Given the description of an element on the screen output the (x, y) to click on. 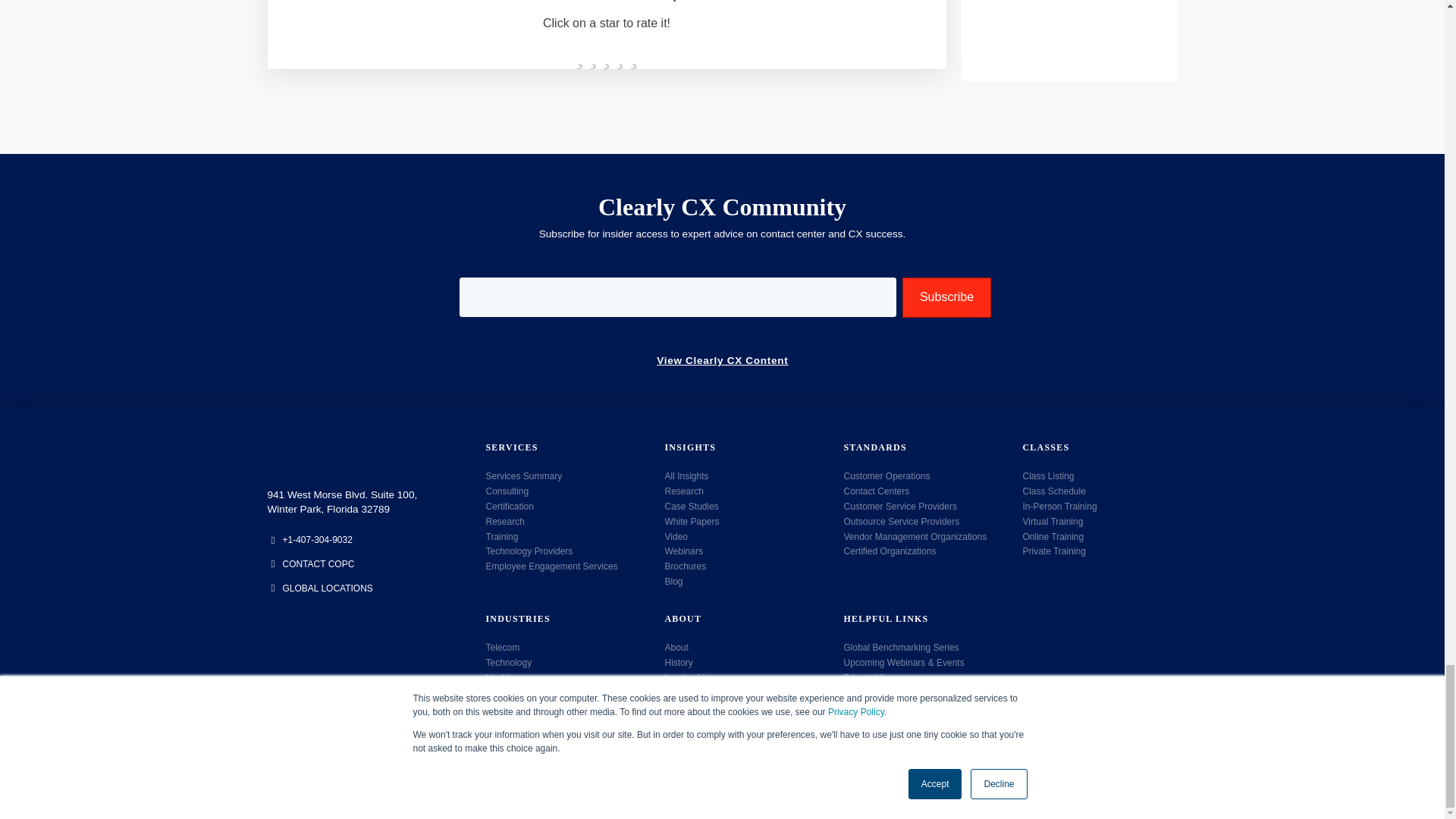
Subscribe (946, 297)
